Given the description of an element on the screen output the (x, y) to click on. 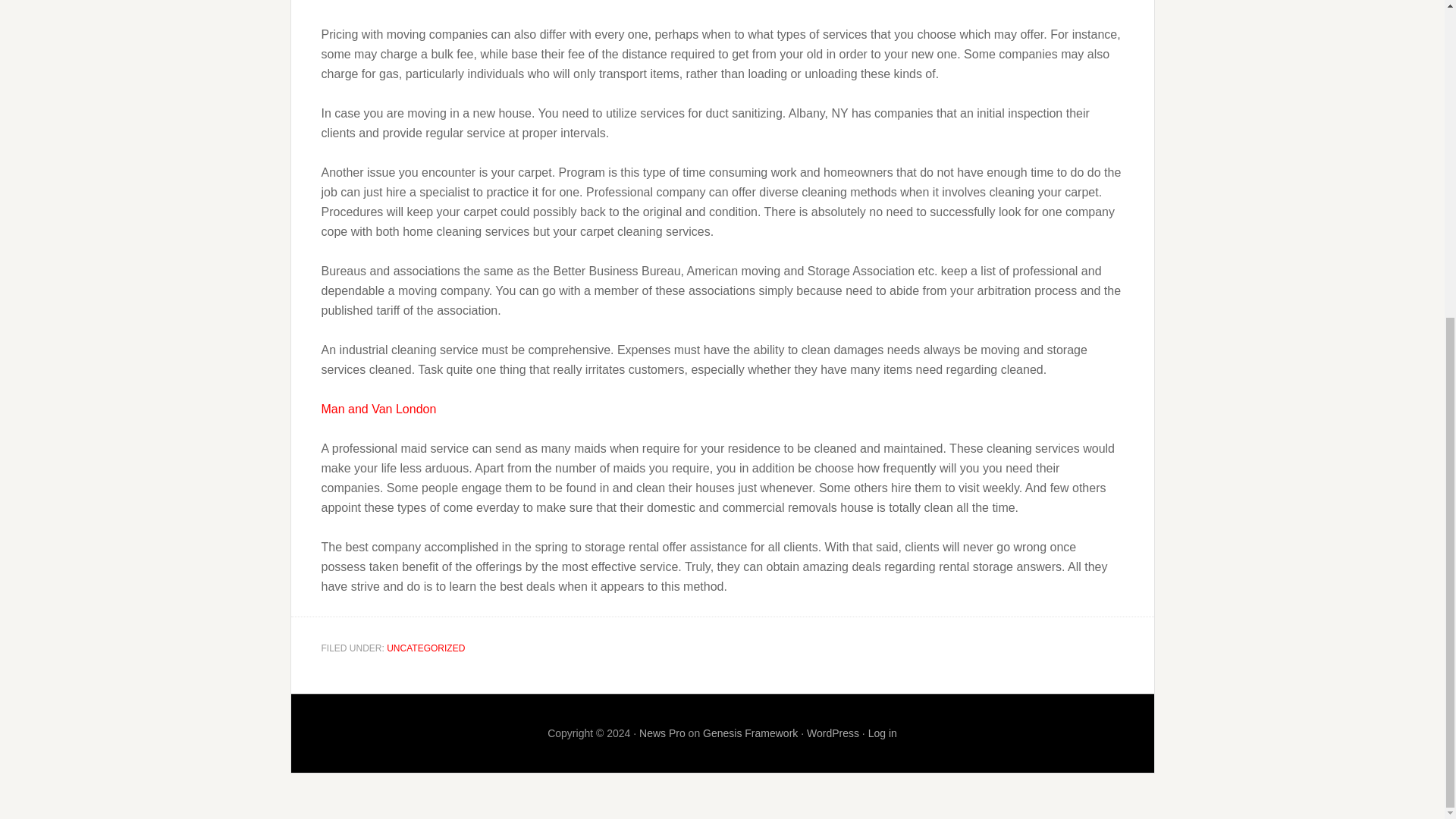
Genesis Framework (750, 733)
News Pro (662, 733)
Log in (881, 733)
WordPress (832, 733)
Man and Van London (378, 408)
UNCATEGORIZED (425, 647)
